Given the description of an element on the screen output the (x, y) to click on. 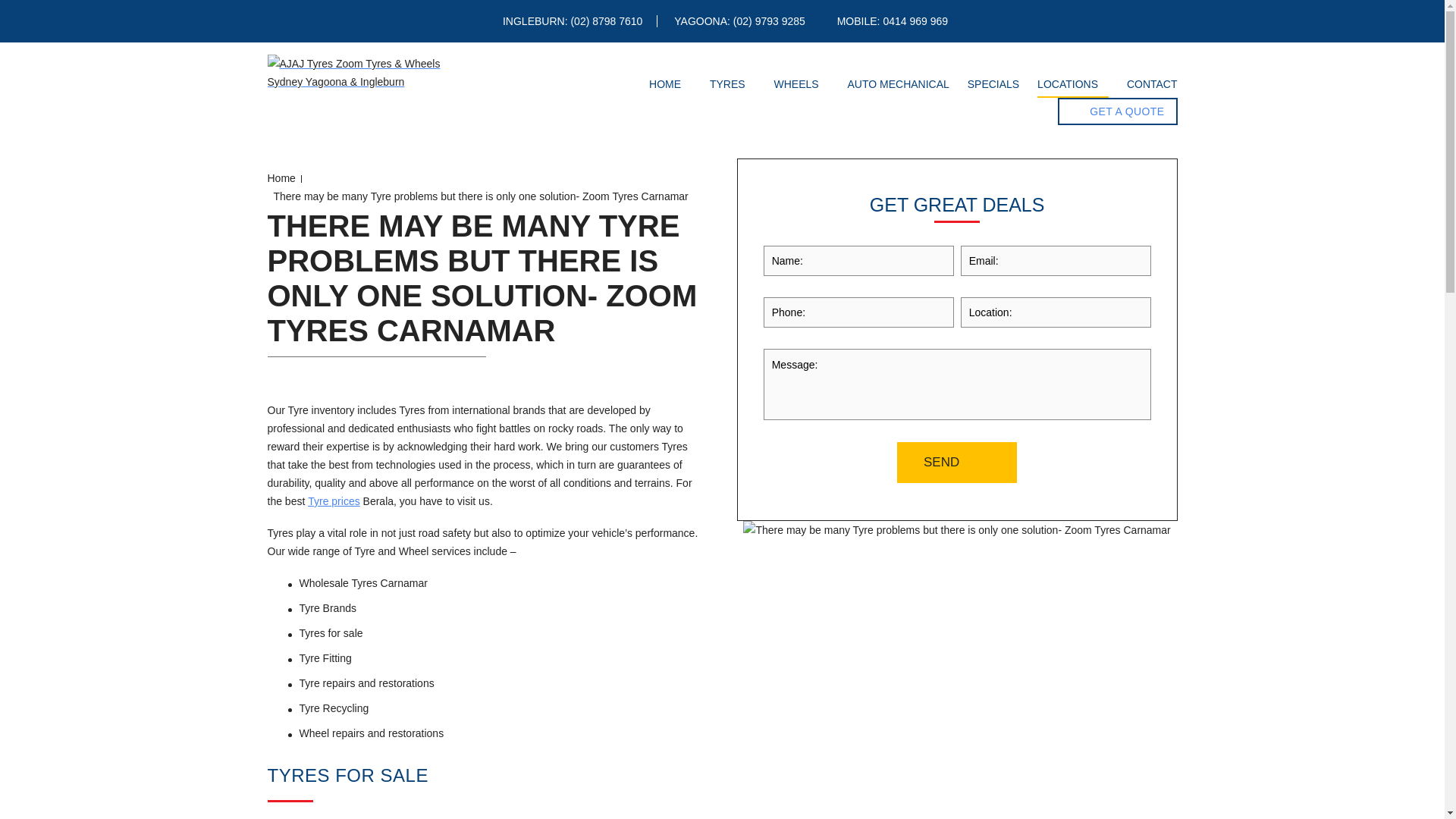
LOCATIONS (1072, 84)
0414 969 969 (914, 21)
Home (670, 84)
SPECIALS (993, 84)
0414 969 969 (914, 21)
Send (956, 462)
AJAJ Tyres  (360, 72)
HOME (670, 84)
AUTO MECHANICAL (898, 84)
TYRES (732, 84)
